Given the description of an element on the screen output the (x, y) to click on. 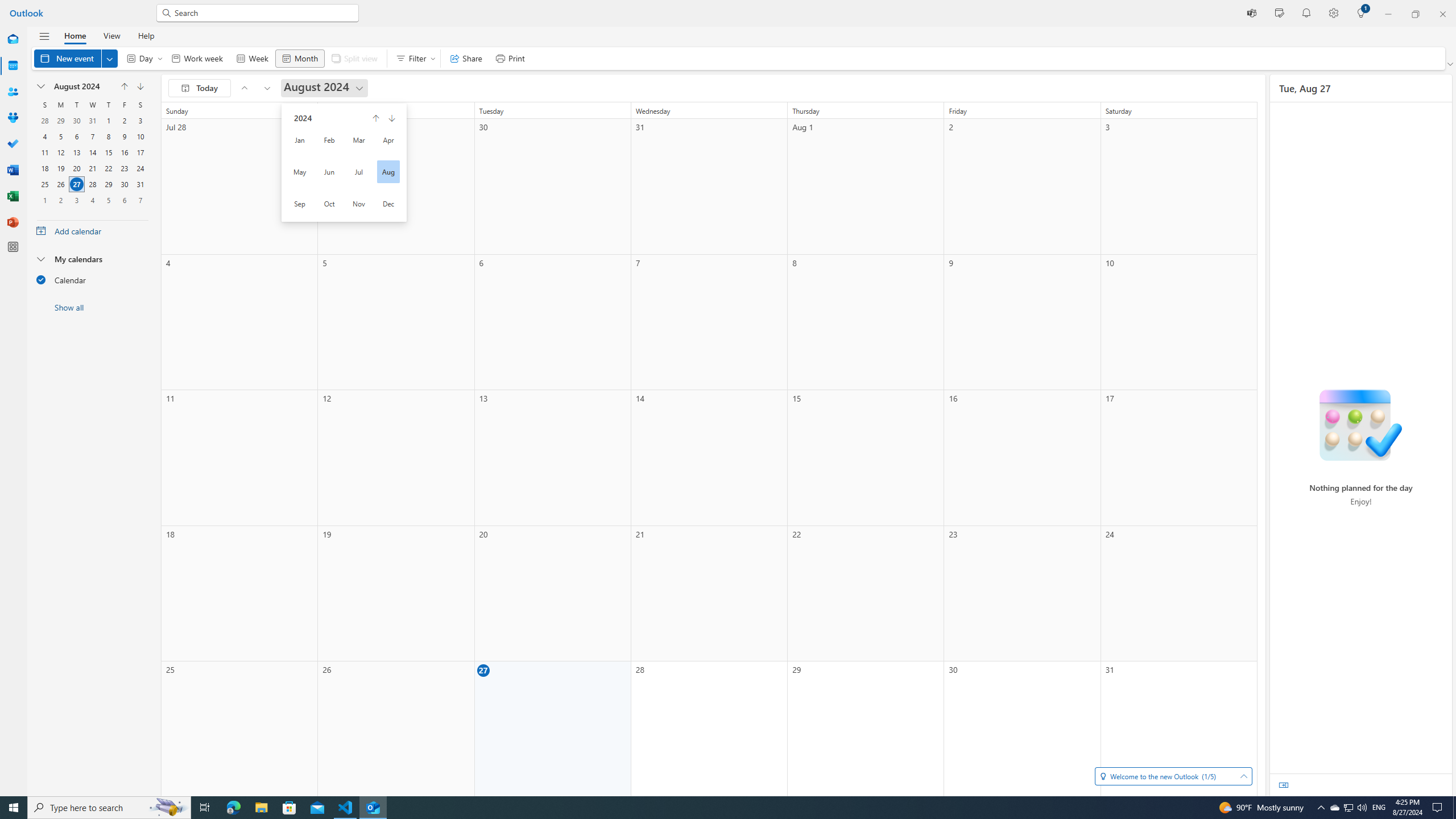
25, August, 2024 (44, 183)
21, August, 2024 (92, 168)
Calendar (12, 65)
7, September, 2024 (140, 200)
11, August, 2024 (44, 152)
Thursday (108, 104)
22, August, 2024 (108, 168)
System (6, 6)
Monday (60, 104)
Share (465, 58)
